Given the description of an element on the screen output the (x, y) to click on. 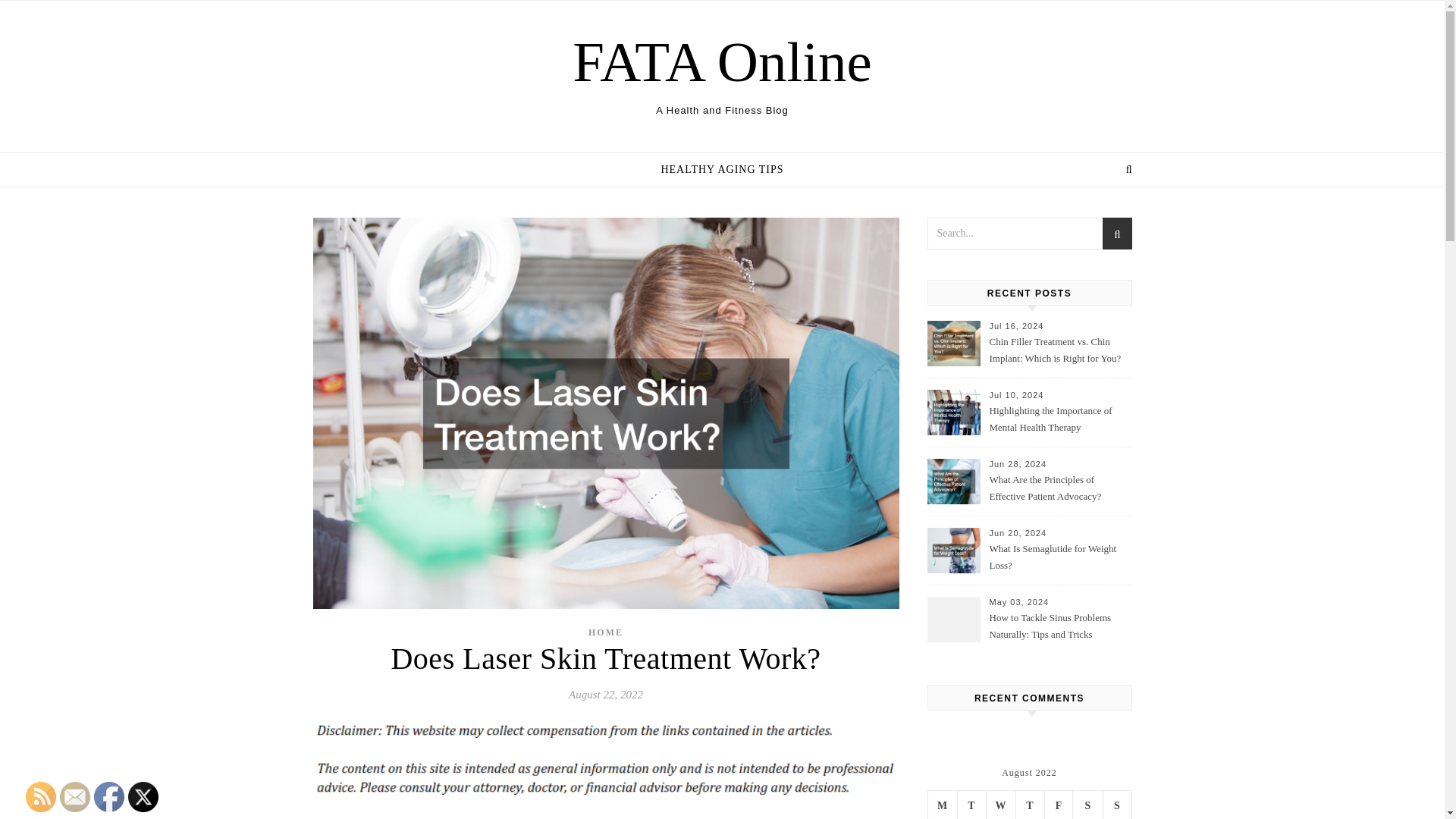
Tuesday (970, 804)
Follow by Email (74, 797)
RSS (41, 797)
Wednesday (999, 804)
How to Tackle Sinus Problems Naturally: Tips and Tricks (1058, 626)
HEALTHY AGING TIPS (722, 169)
Monday (941, 804)
Friday (1058, 804)
Sunday (1116, 804)
FATA Online (722, 61)
